Given the description of an element on the screen output the (x, y) to click on. 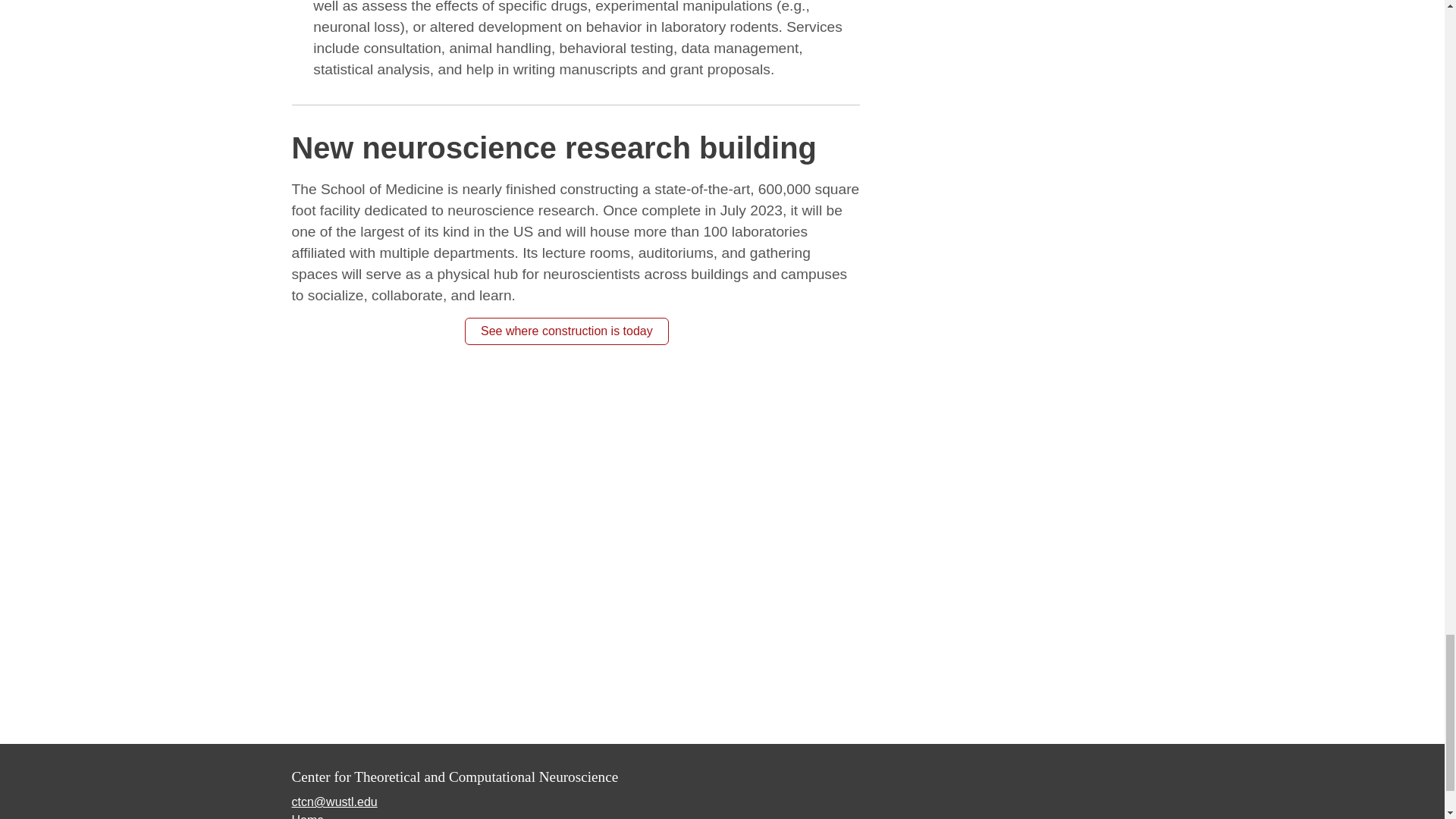
Home (307, 816)
See where construction is today (566, 330)
